Given the description of an element on the screen output the (x, y) to click on. 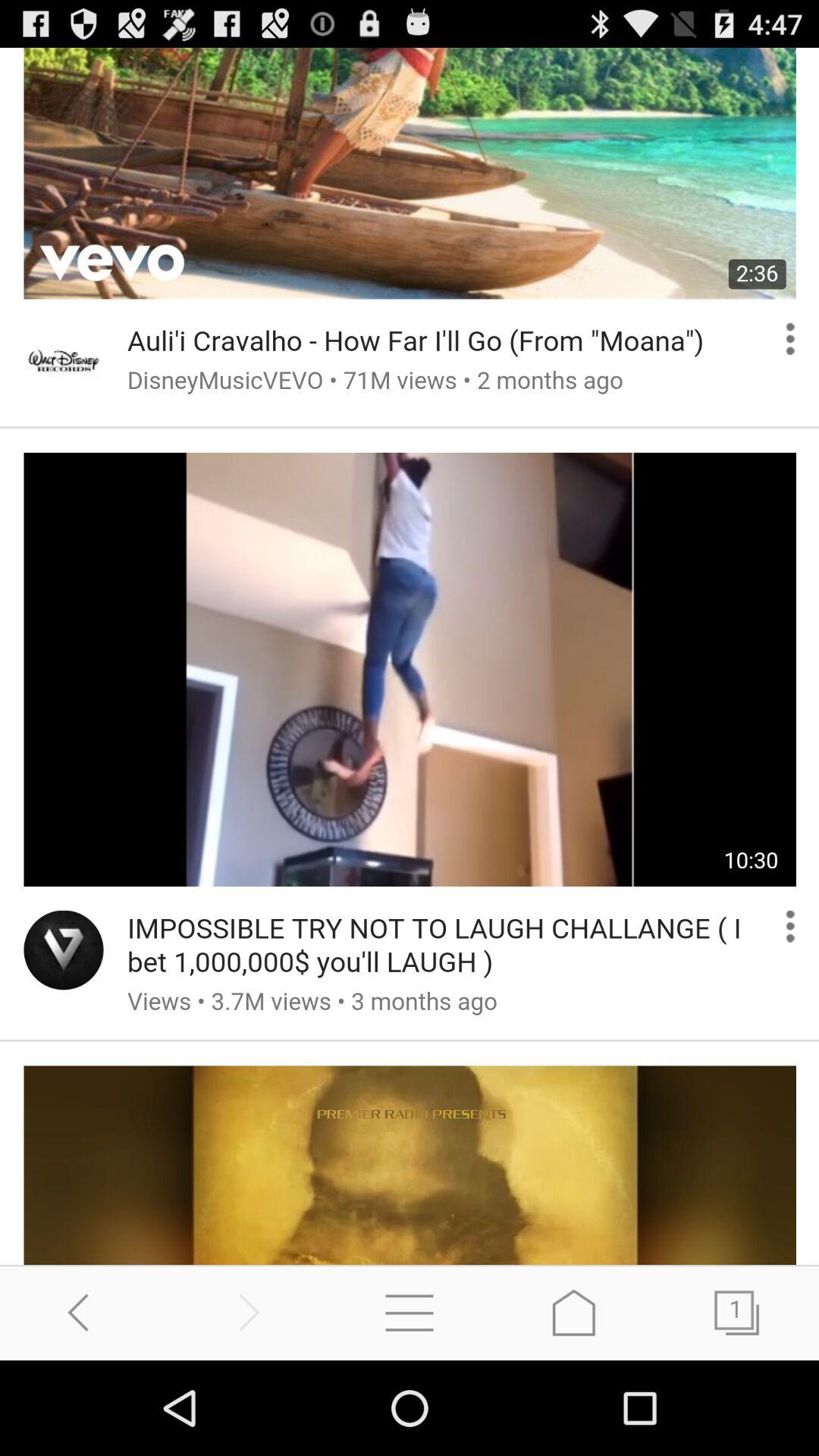
proceed to next (245, 1312)
